Given the description of an element on the screen output the (x, y) to click on. 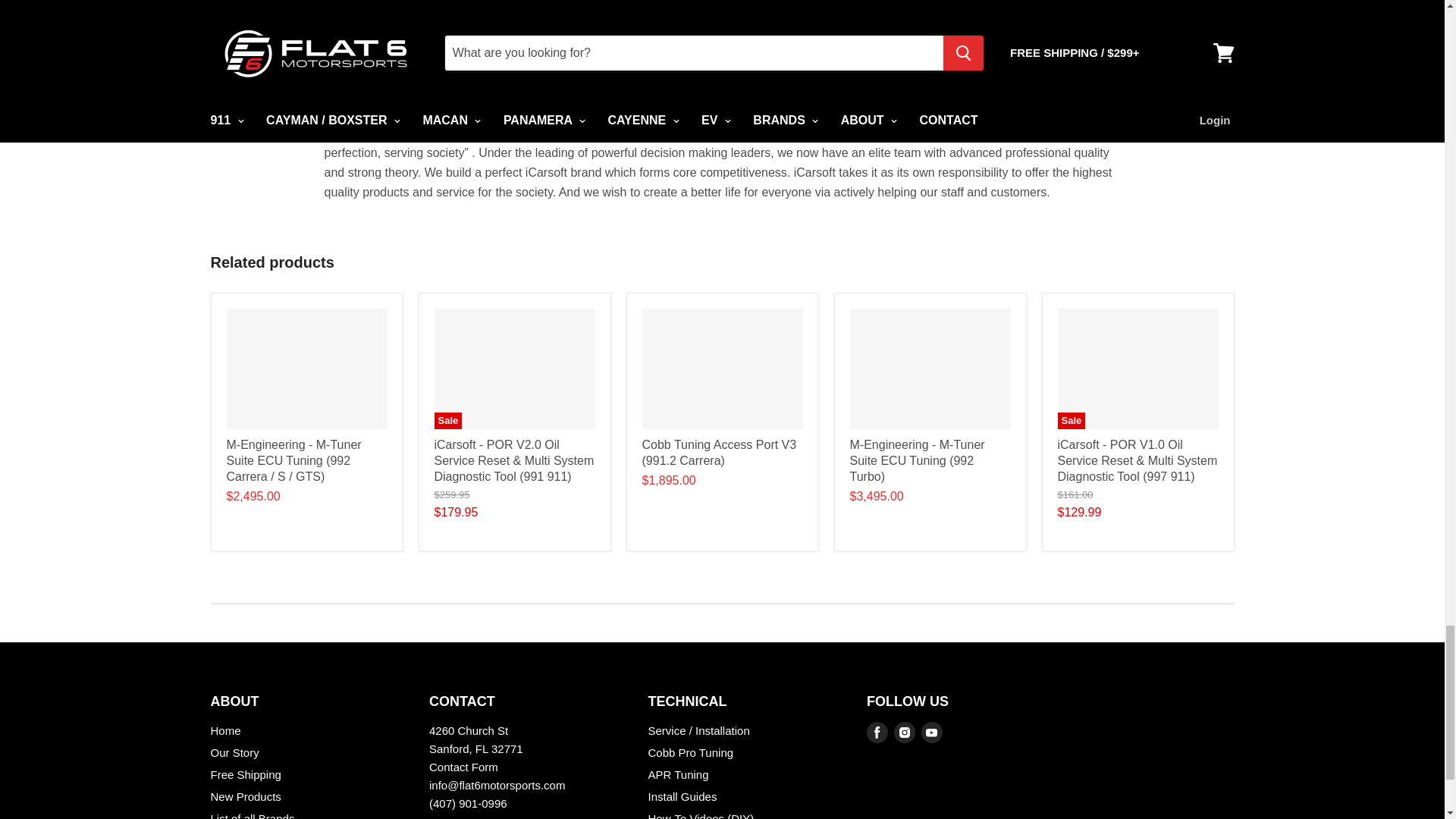
Instagram (904, 732)
Youtube (931, 732)
Facebook (877, 732)
